Given the description of an element on the screen output the (x, y) to click on. 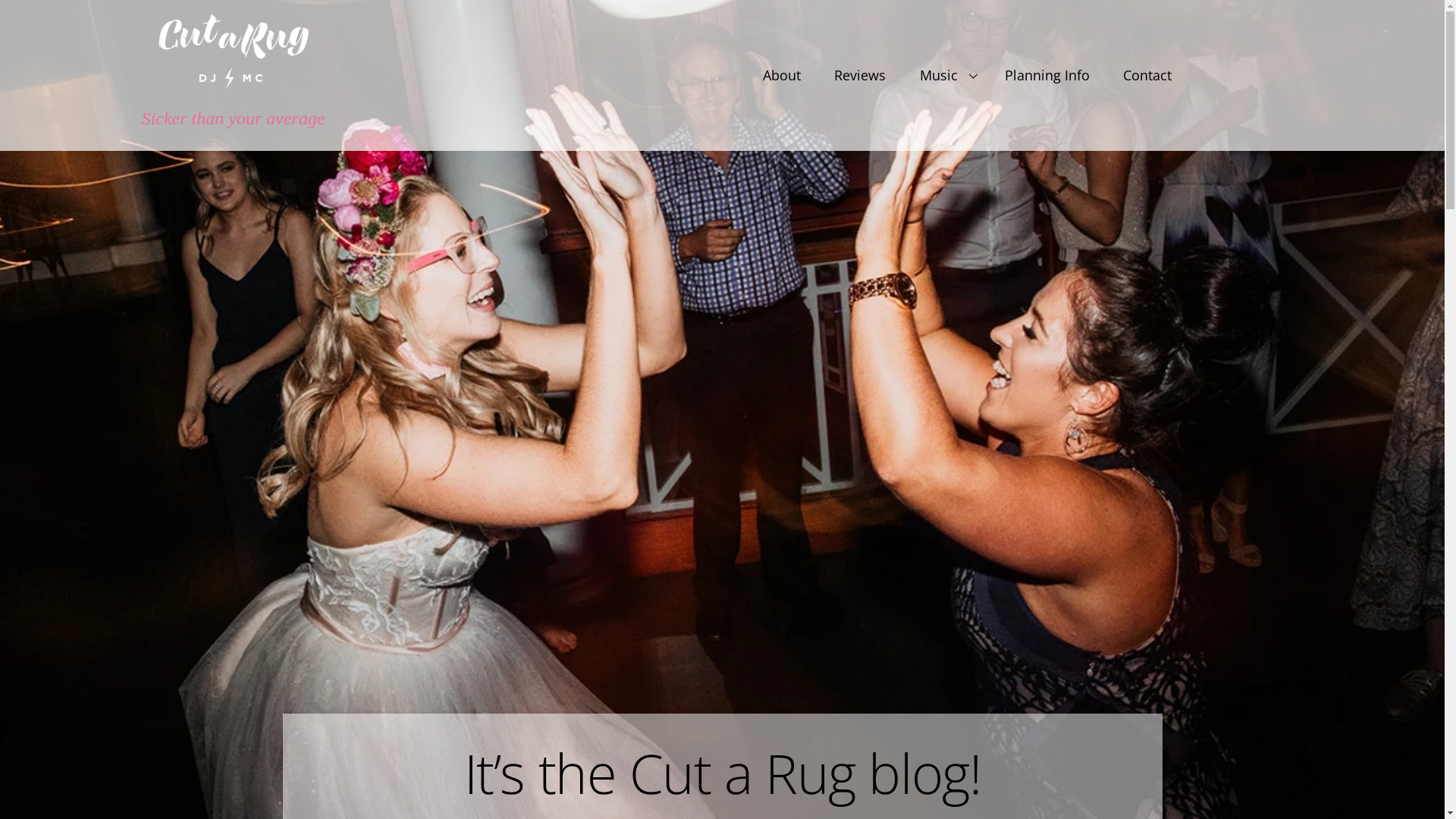
logo-white Element type: hover (233, 51)
Music Element type: text (945, 75)
Reviews Element type: text (860, 75)
Planning Info Element type: text (1046, 75)
About Element type: text (781, 75)
Contact Element type: text (1147, 75)
Link Element type: text (233, 51)
